Given the description of an element on the screen output the (x, y) to click on. 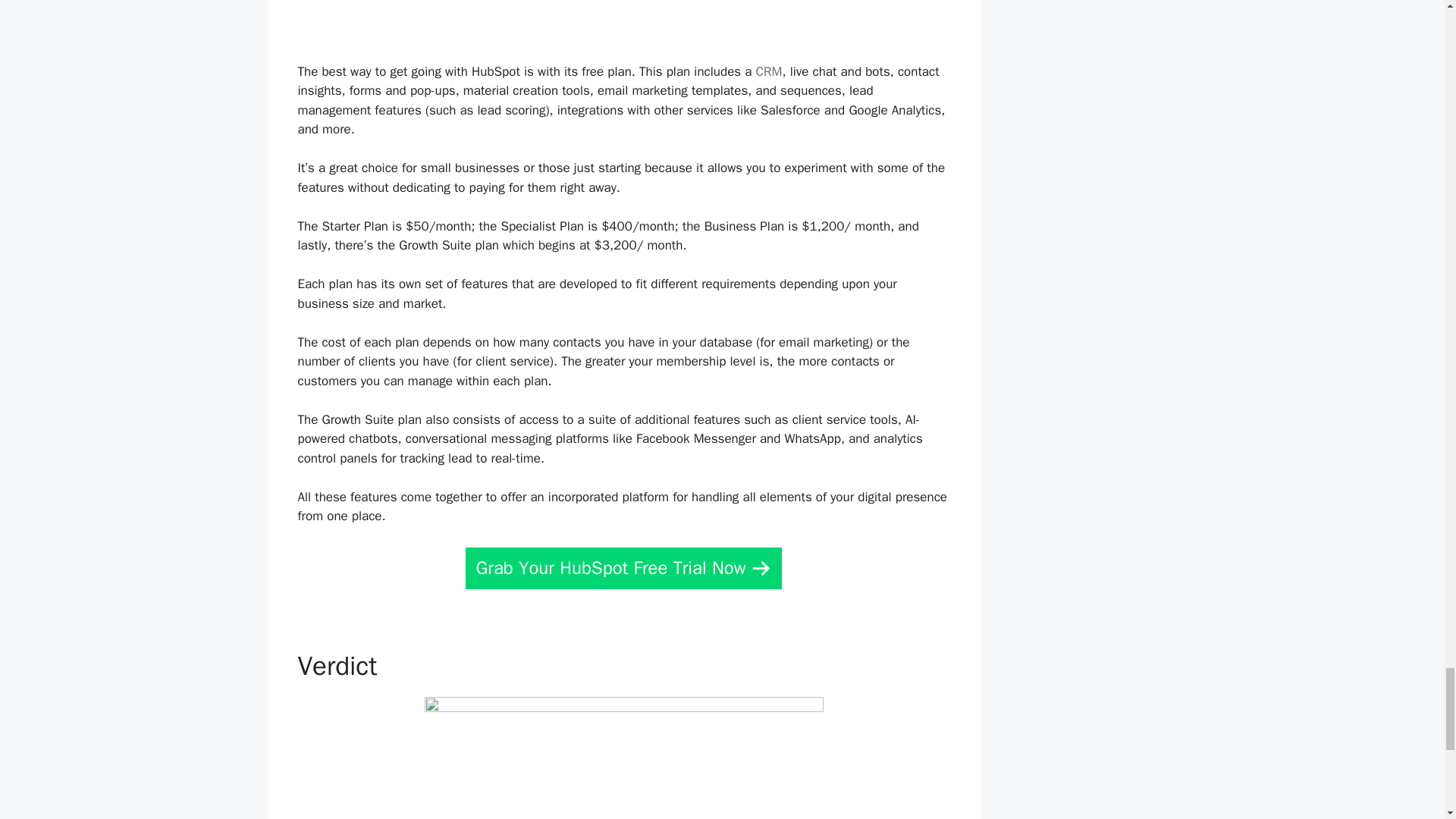
Grab Your HubSpot Free Trial Now (622, 567)
CRM (768, 71)
